Given the description of an element on the screen output the (x, y) to click on. 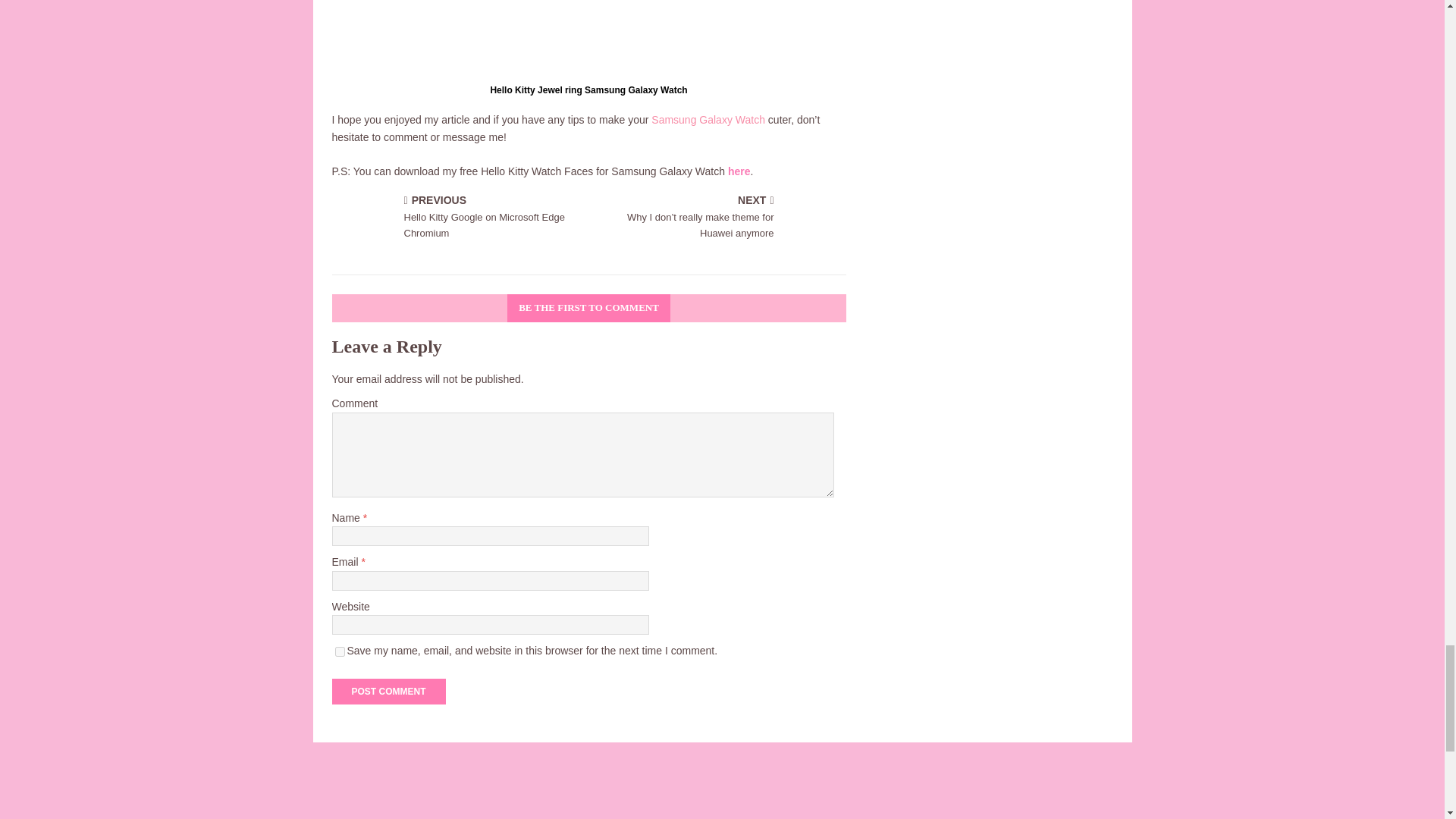
yes (339, 651)
Post Comment (388, 691)
